Given the description of an element on the screen output the (x, y) to click on. 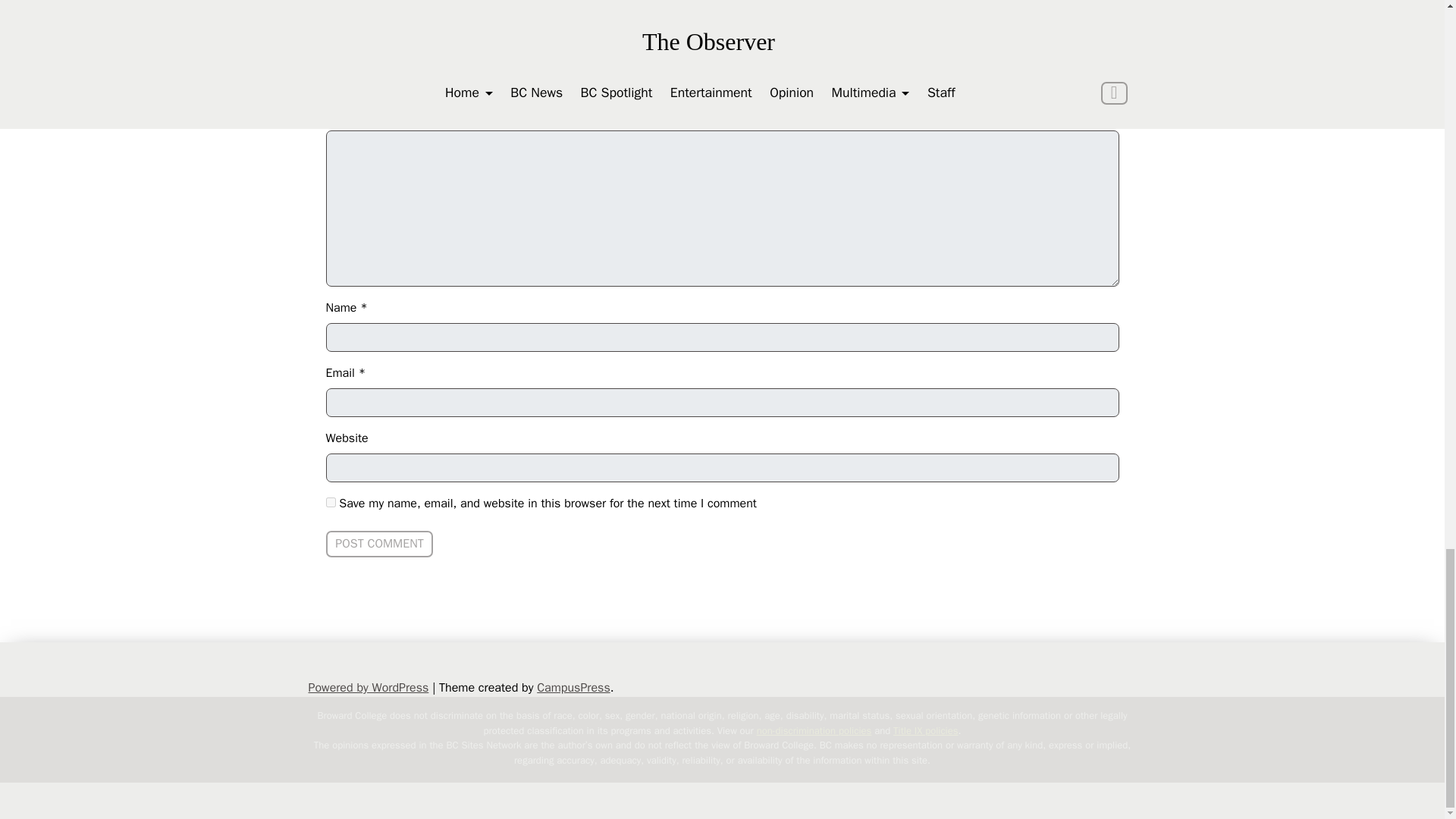
CampusPress (573, 687)
Title IX policies (925, 730)
non-discrimination policies (814, 730)
Powered by WordPress (367, 687)
yes (331, 501)
Post Comment (379, 543)
Post Comment (379, 543)
